Given the description of an element on the screen output the (x, y) to click on. 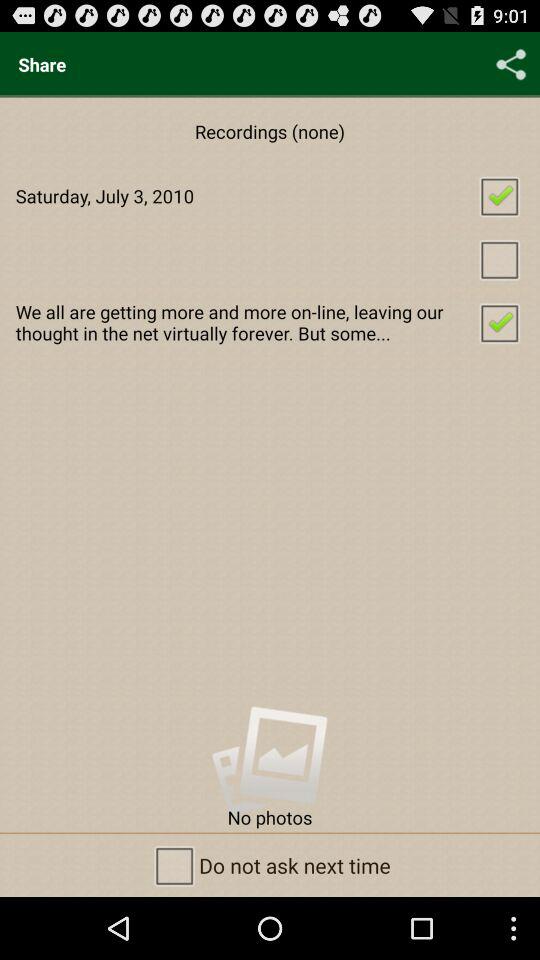
turn off the checkbox above we all are icon (269, 258)
